Given the description of an element on the screen output the (x, y) to click on. 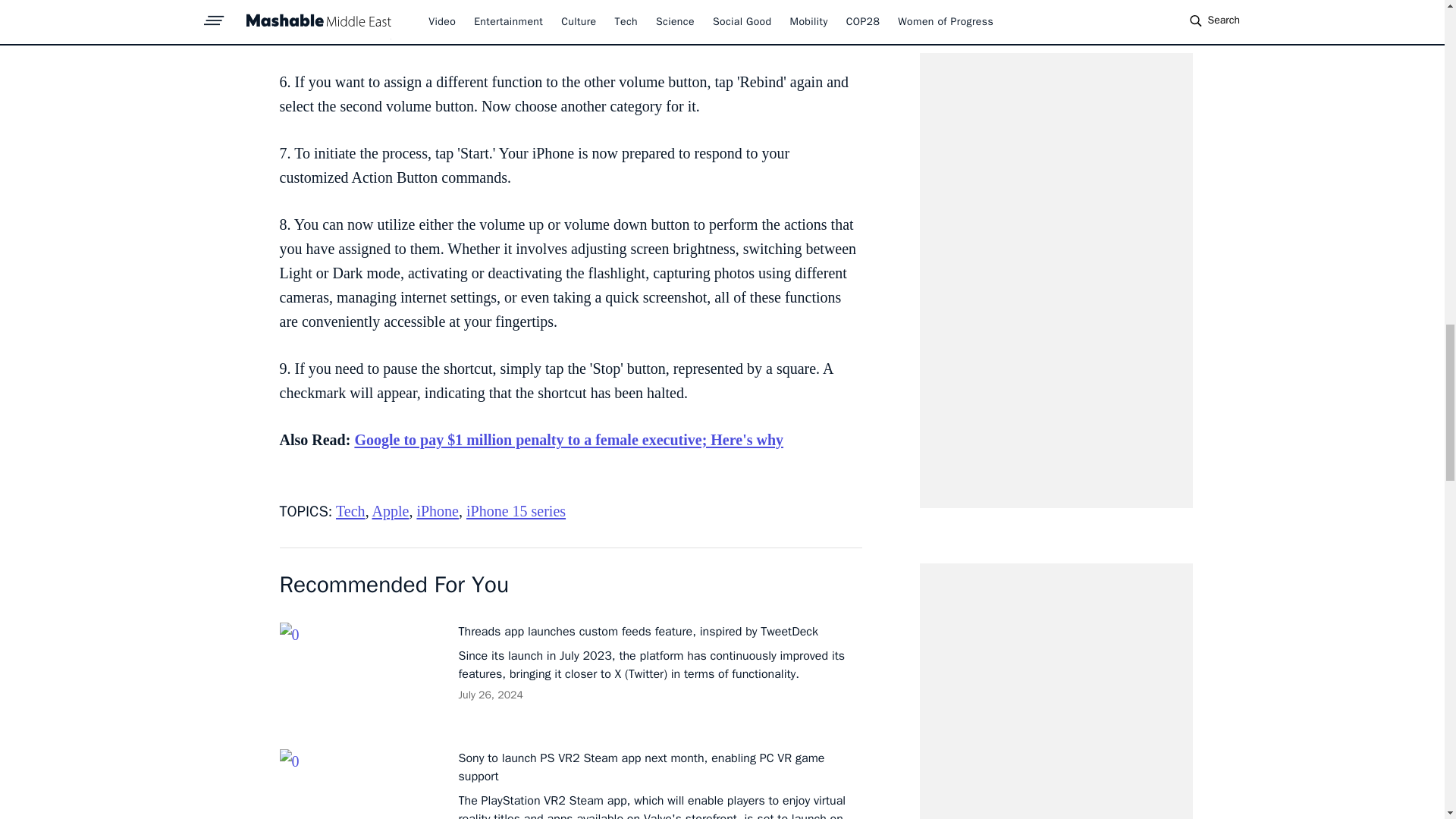
iPhone 15 series (515, 510)
iPhone (437, 510)
Tech (350, 510)
Apple (390, 510)
